Given the description of an element on the screen output the (x, y) to click on. 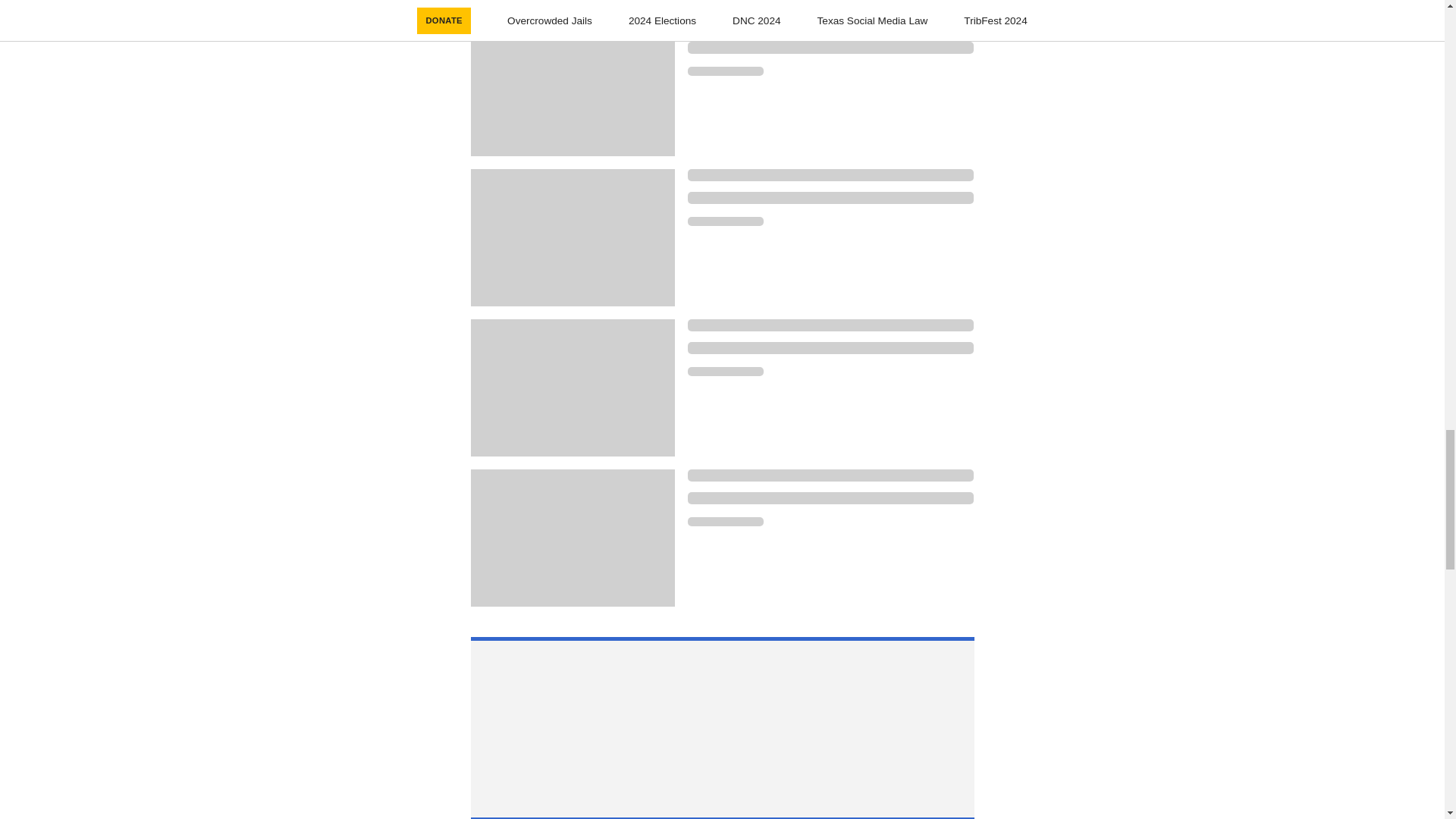
Loading indicator (724, 221)
Loading indicator (830, 197)
Loading indicator (830, 47)
Loading indicator (830, 347)
Loading indicator (830, 174)
Loading indicator (830, 475)
Loading indicator (830, 24)
Loading indicator (724, 71)
Loading indicator (830, 498)
Loading indicator (724, 370)
